Given the description of an element on the screen output the (x, y) to click on. 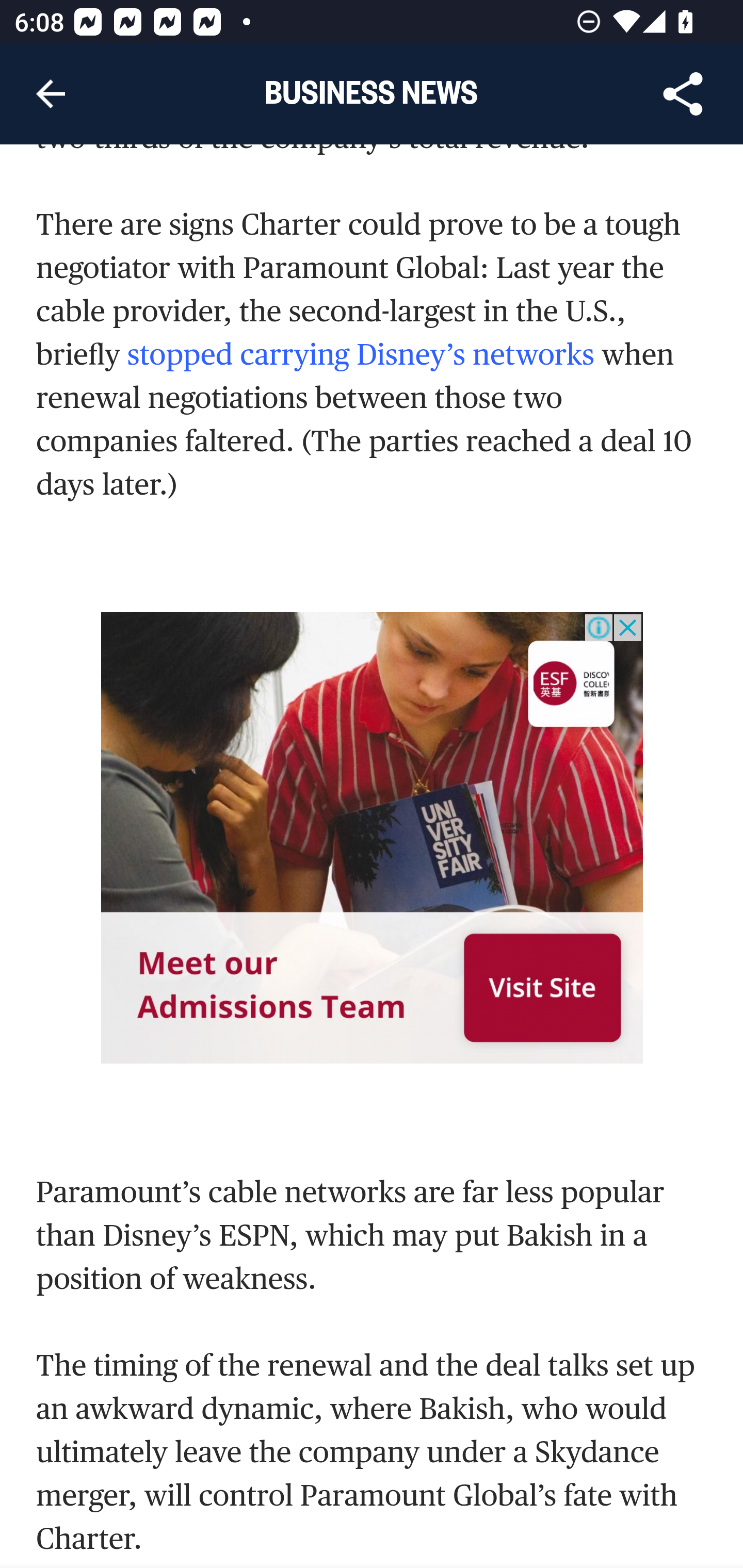
Navigate up (50, 93)
Share Article, button (683, 94)
stopped carrying Disney’s networks (360, 355)
